Given the description of an element on the screen output the (x, y) to click on. 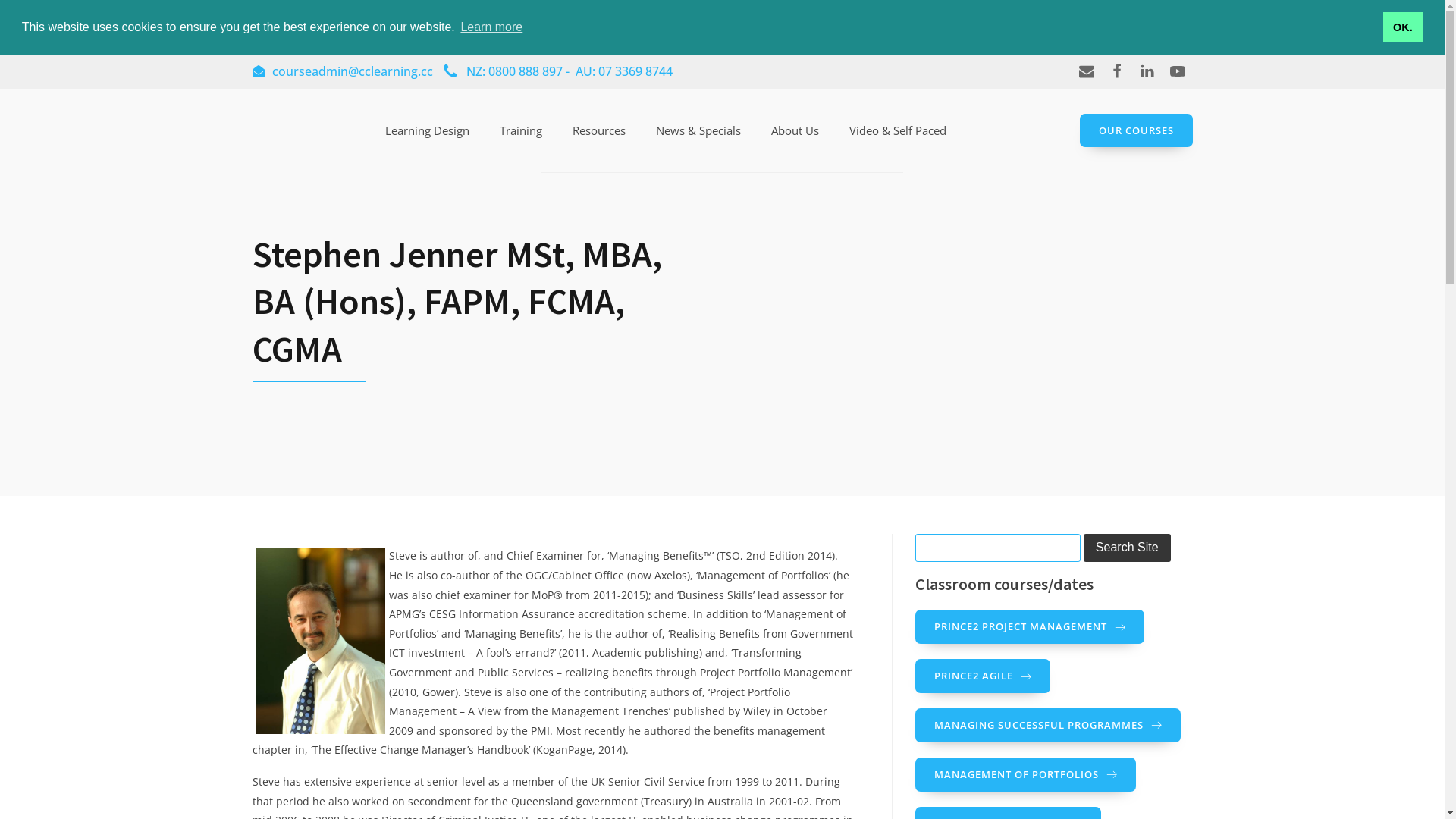
Video & Self Paced Element type: text (897, 130)
OK. Element type: text (1403, 27)
MANAGING SUCCESSFUL PROGRAMMES Element type: text (1047, 725)
Learning Design Element type: text (427, 130)
Learn more Element type: text (491, 26)
courseadmin@cclearning.cc Element type: text (341, 71)
News & Specials Element type: text (698, 130)
PRINCE2 PROJECT MANAGEMENT Element type: text (1029, 626)
Search Site Element type: text (1126, 547)
MANAGEMENT OF PORTFOLIOS Element type: text (1025, 774)
PRINCE2 AGILE Element type: text (982, 675)
Resources Element type: text (598, 130)
About Us Element type: text (795, 130)
OUR COURSES Element type: text (1135, 130)
Training Element type: text (520, 130)
NZ: 0800 888 897 -  AU: 07 3369 8744 Element type: text (557, 71)
